Given the description of an element on the screen output the (x, y) to click on. 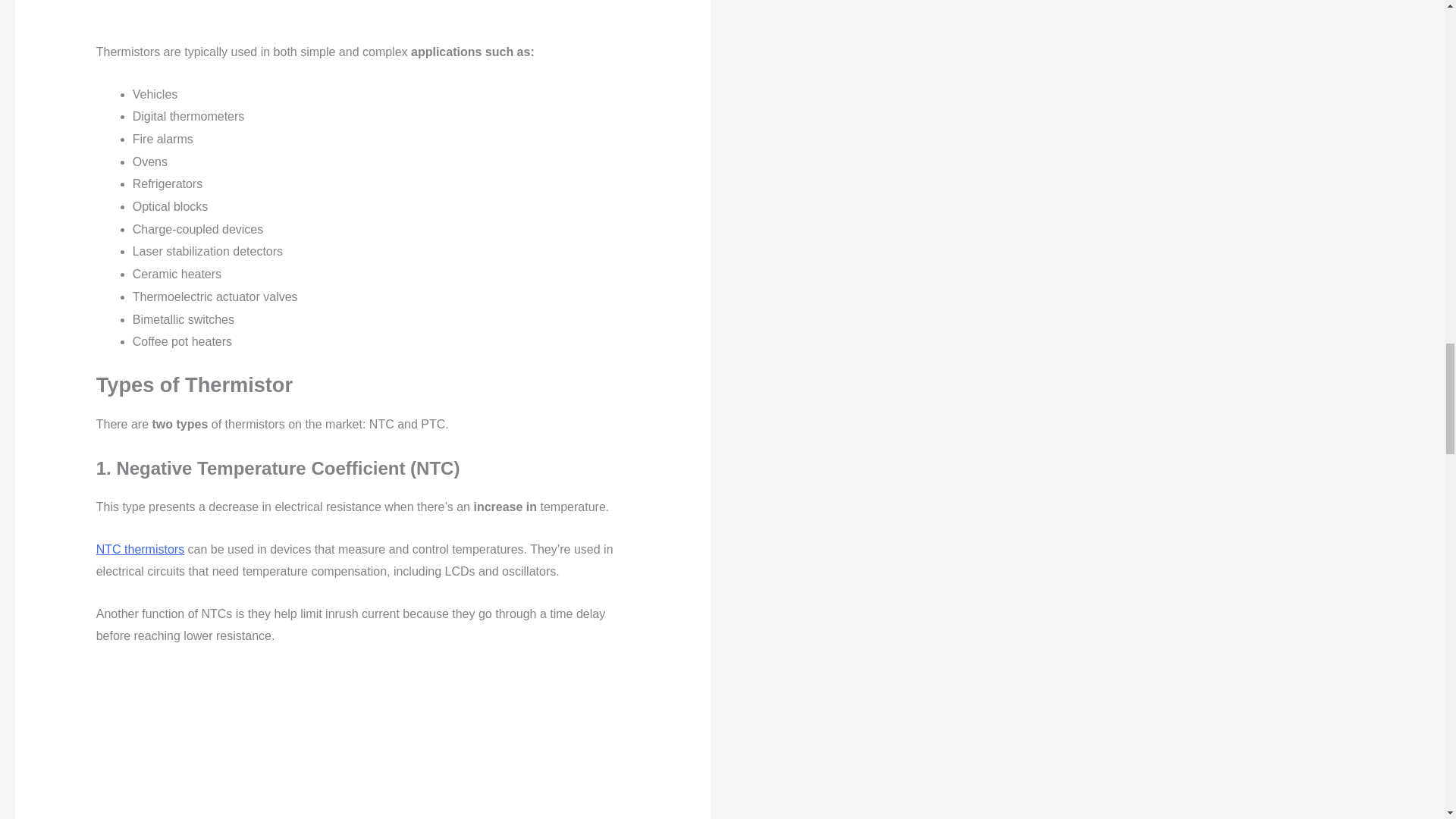
What is a Thermistor (363, 743)
NTC thermistors (140, 549)
